Given the description of an element on the screen output the (x, y) to click on. 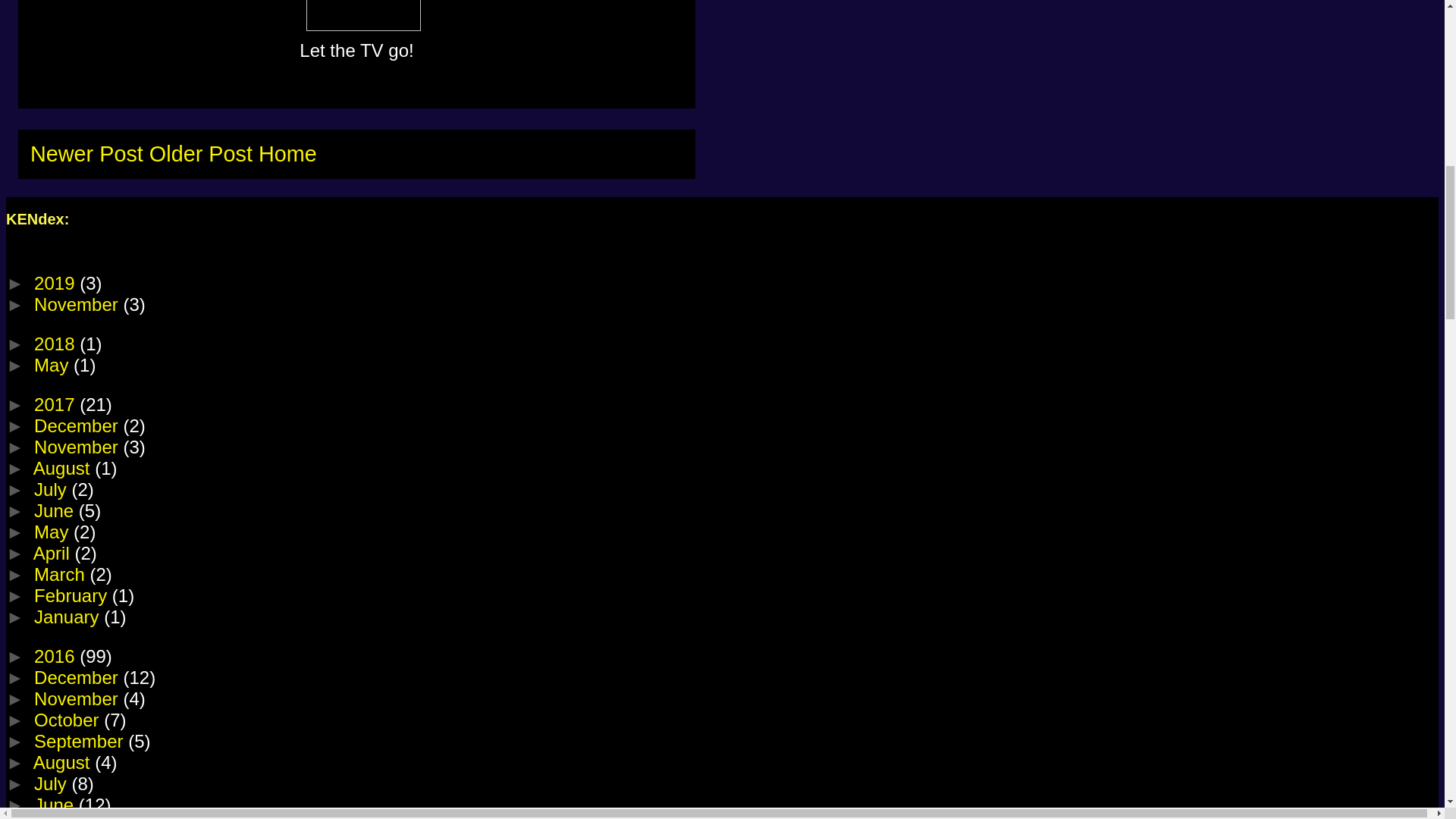
July (52, 489)
Newer Post (86, 153)
May (53, 364)
February (72, 595)
April (54, 552)
2017 (56, 403)
November (77, 304)
Home (288, 153)
Newer Post (86, 153)
2019 (56, 282)
2018 (56, 343)
November (77, 446)
June (55, 510)
Older Post (200, 153)
December (77, 425)
